Given the description of an element on the screen output the (x, y) to click on. 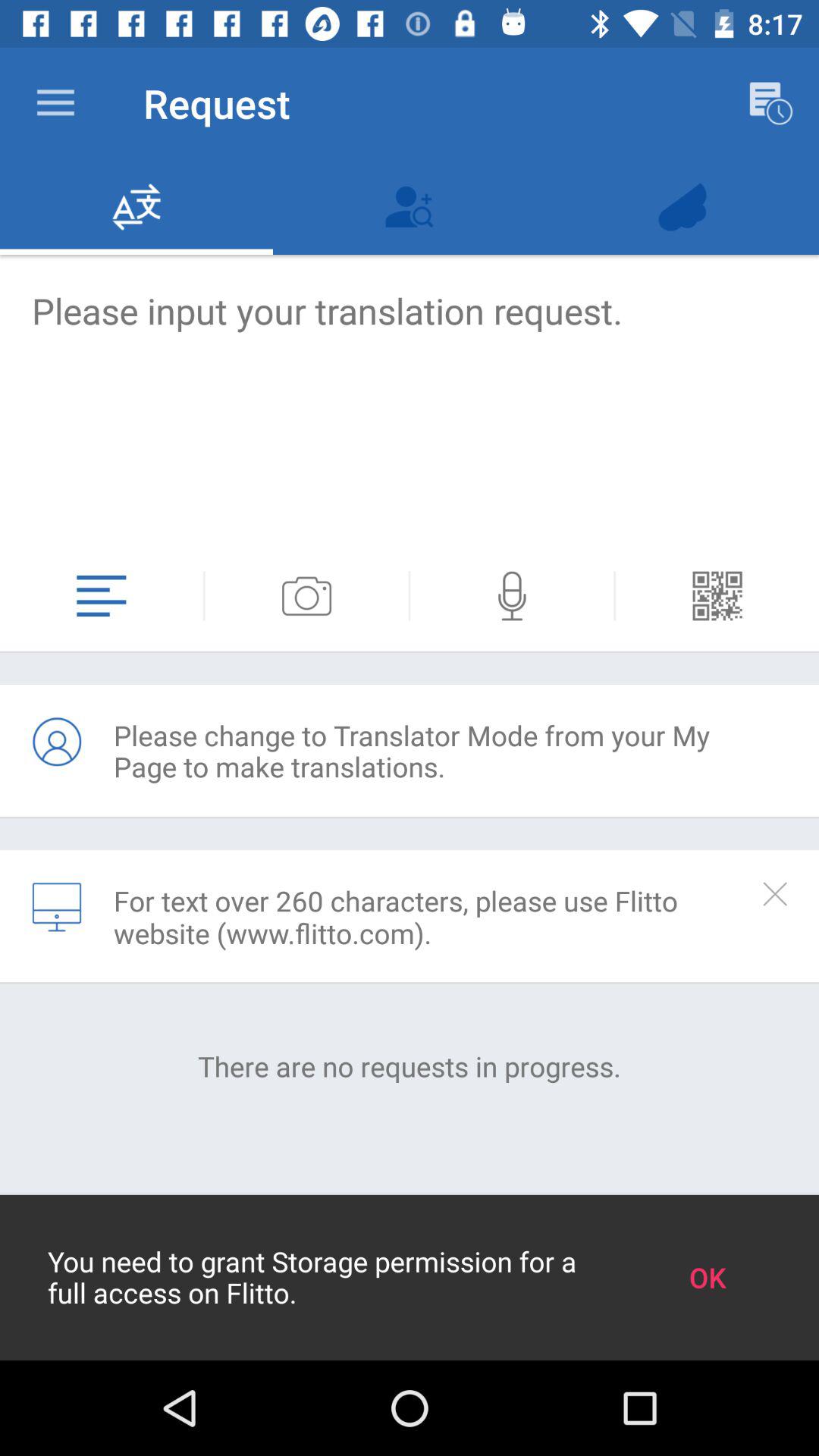
jump to there are no (409, 1066)
